Given the description of an element on the screen output the (x, y) to click on. 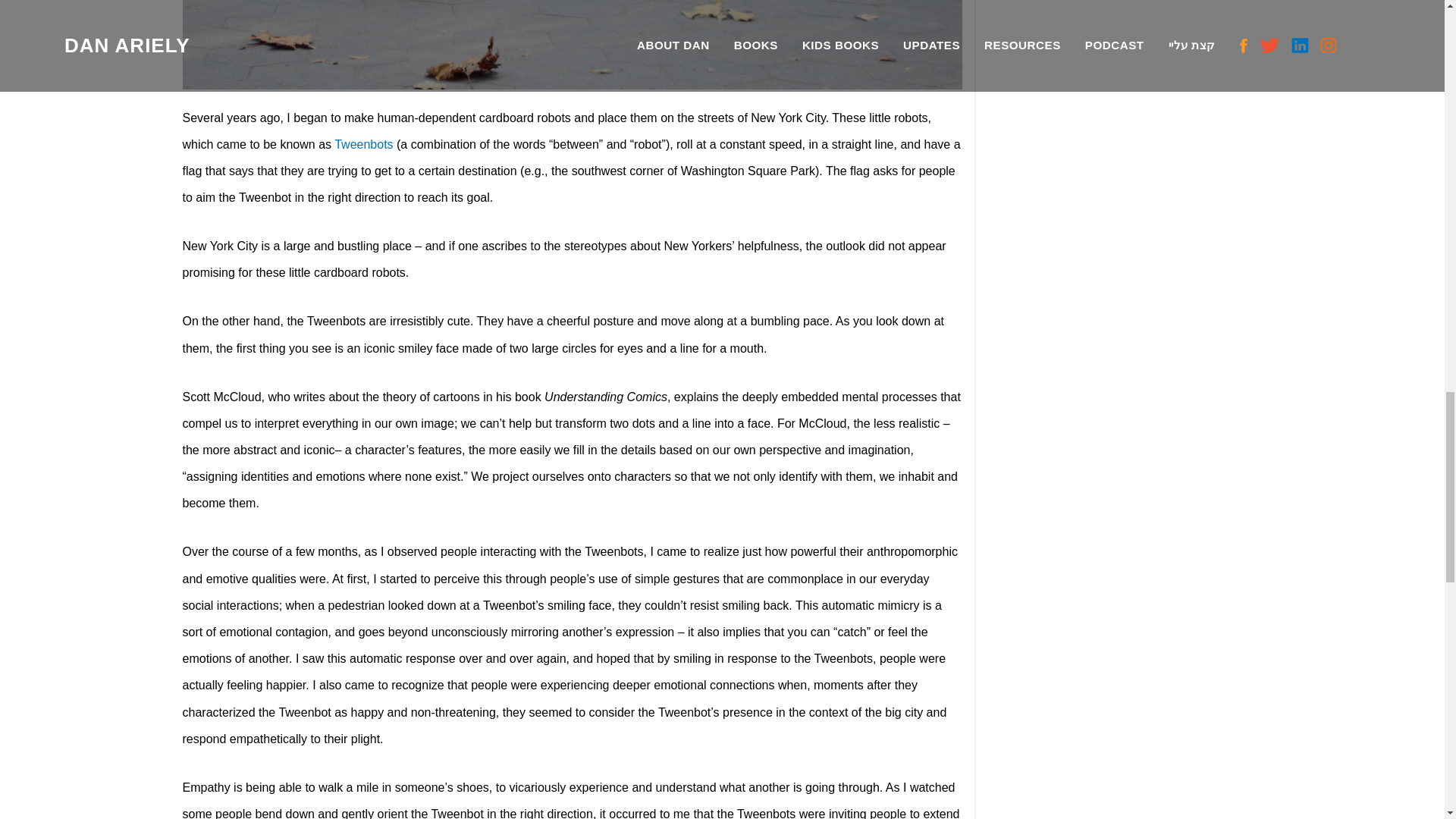
Tweenbots (363, 144)
Tweenbot (572, 44)
Tweenbots (363, 144)
